Given the description of an element on the screen output the (x, y) to click on. 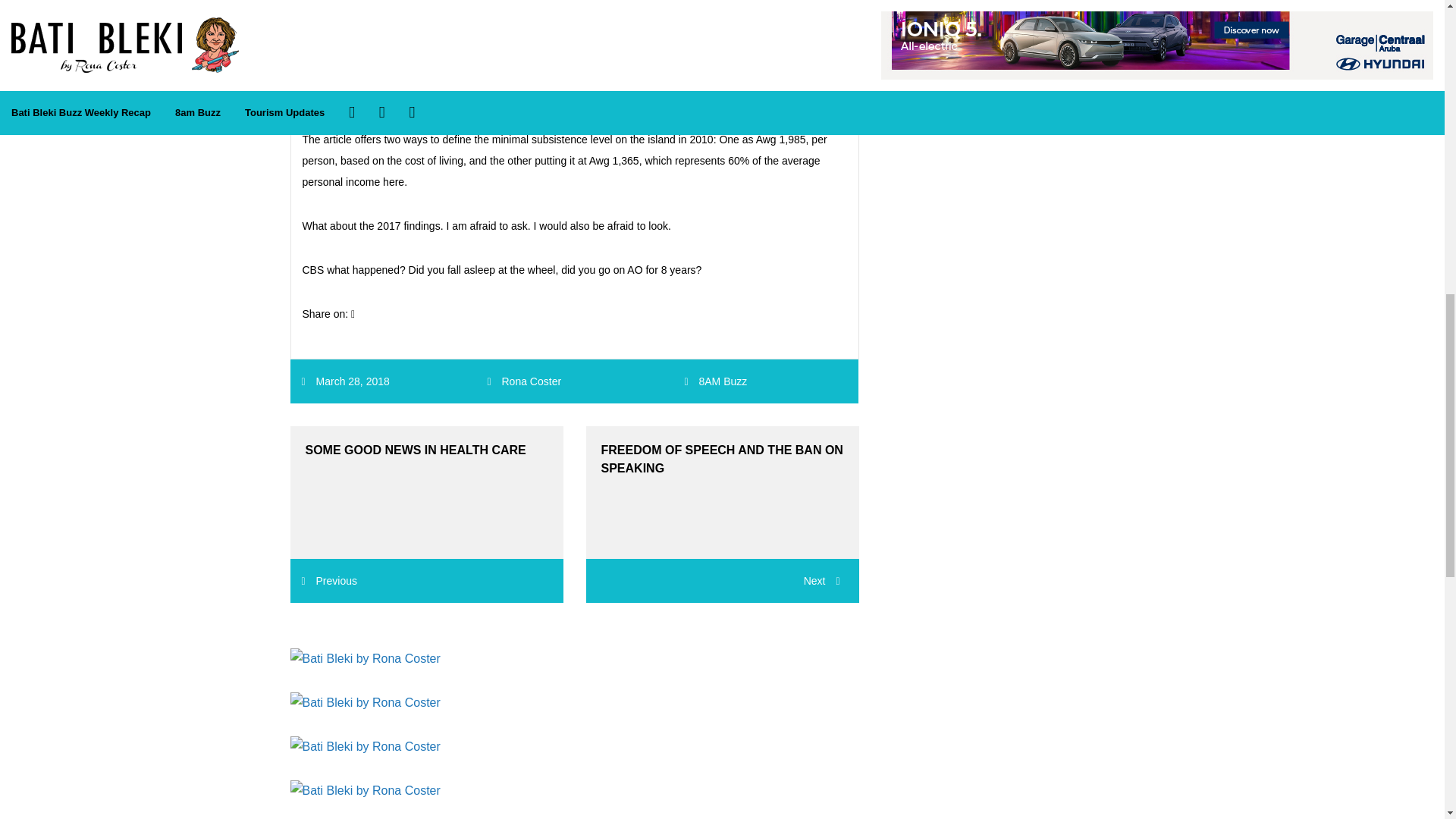
Share on: (328, 313)
Next (721, 580)
8AM Buzz (722, 381)
SOME GOOD NEWS IN HEALTH CARE (425, 491)
Previous (328, 580)
FREEDOM OF SPEECH AND THE BAN ON SPEAKING (722, 491)
